Given the description of an element on the screen output the (x, y) to click on. 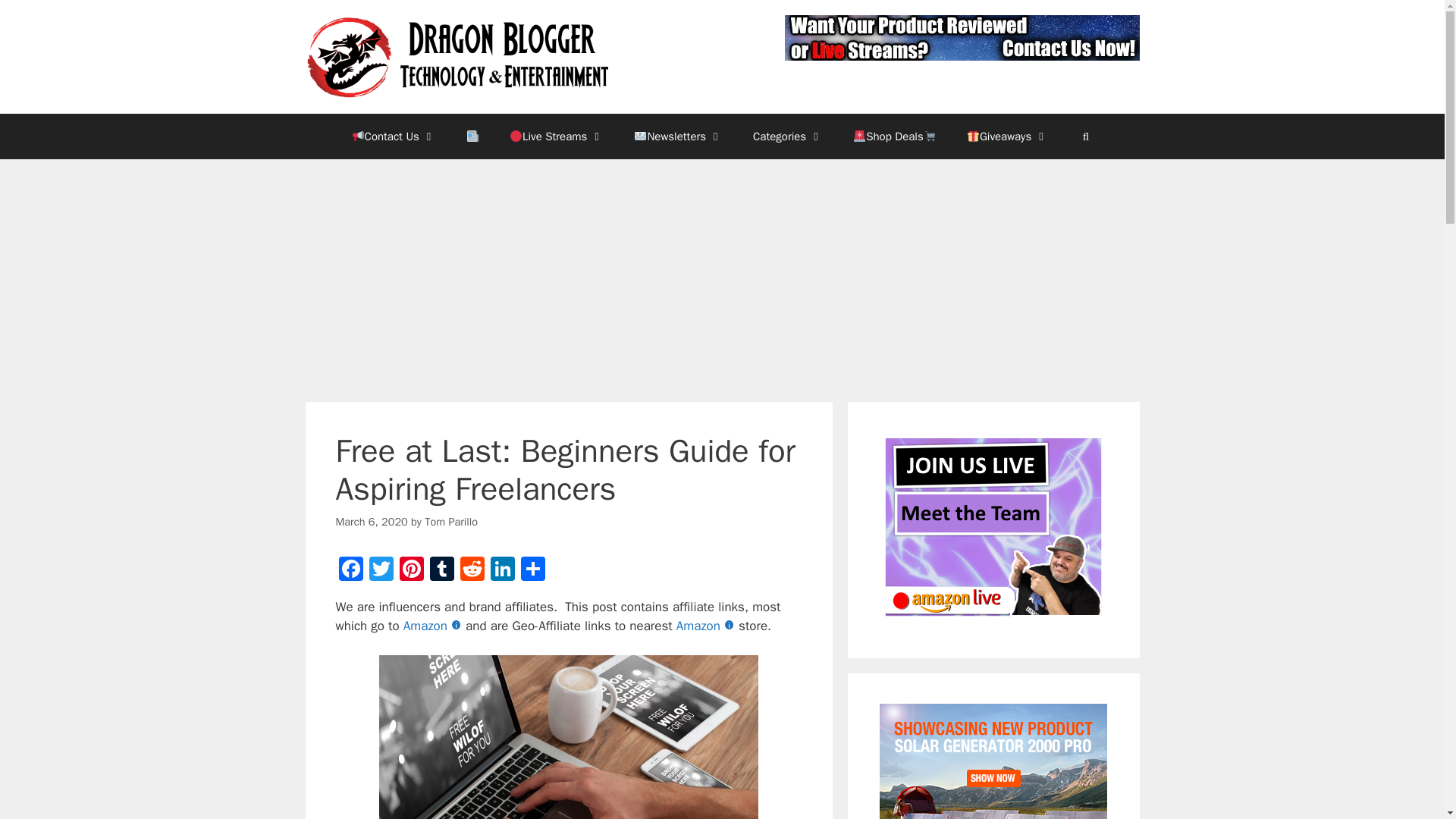
Amazon Homepage (707, 625)
Pinterest (411, 570)
Newsletters (678, 135)
Contact Us (393, 135)
Twitter (380, 570)
Reddit (471, 570)
Categories (788, 135)
Amazon Homepage (434, 625)
LinkedIn (501, 570)
View all posts by Tom Parillo (451, 521)
Facebook (349, 570)
Live Streams (556, 135)
Tumblr (441, 570)
